Given the description of an element on the screen output the (x, y) to click on. 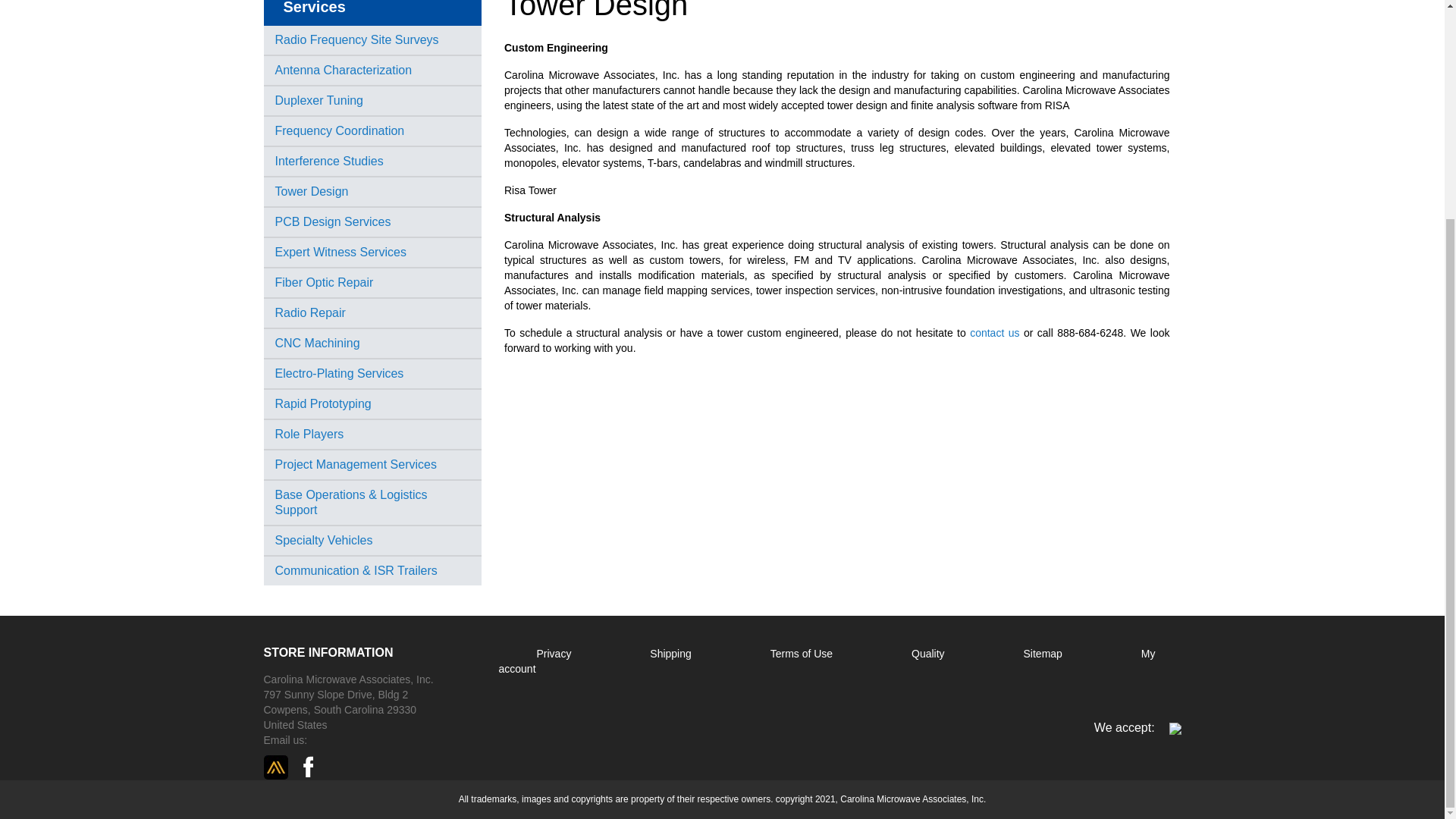
Duplexer Tuning (318, 100)
Fiber Optic Repair (323, 282)
Sitemap (1044, 653)
Tower Design (311, 191)
Role Players (309, 433)
Interference Studies (328, 160)
Electro-Plating Services (339, 373)
Rapid Prototyping (323, 403)
CNC Machining (317, 342)
Radio Repair (310, 312)
